Given the description of an element on the screen output the (x, y) to click on. 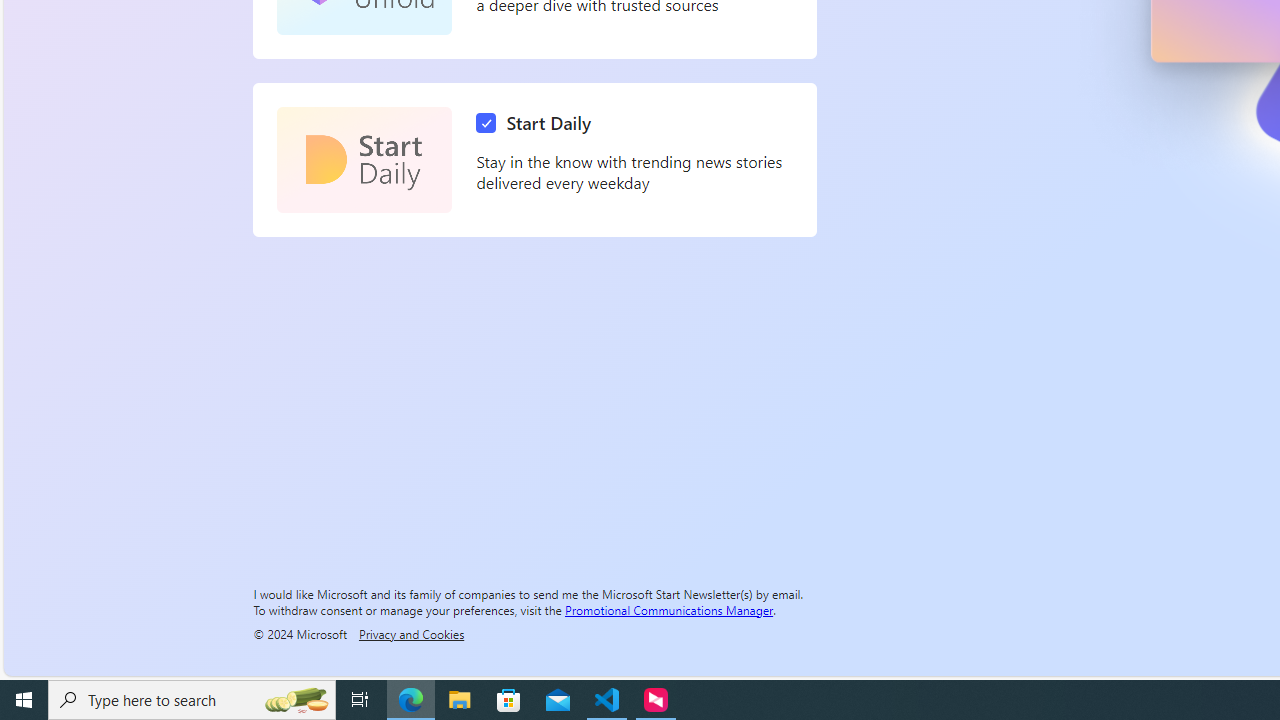
Start Daily (364, 160)
Start Daily (538, 123)
Promotional Communications Manager (669, 609)
Privacy and Cookies (411, 633)
